Given the description of an element on the screen output the (x, y) to click on. 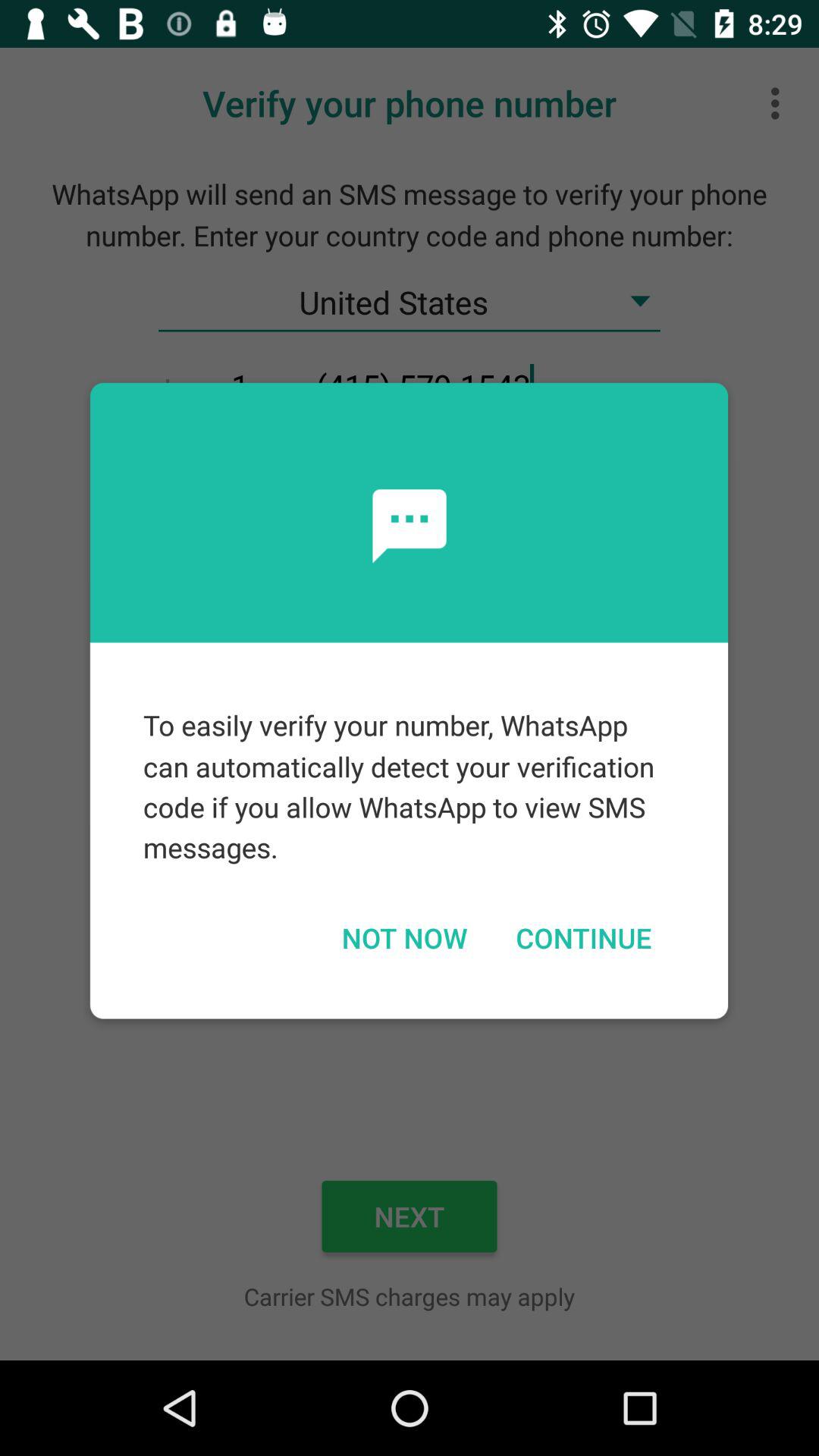
press icon to the right of not now icon (583, 937)
